Given the description of an element on the screen output the (x, y) to click on. 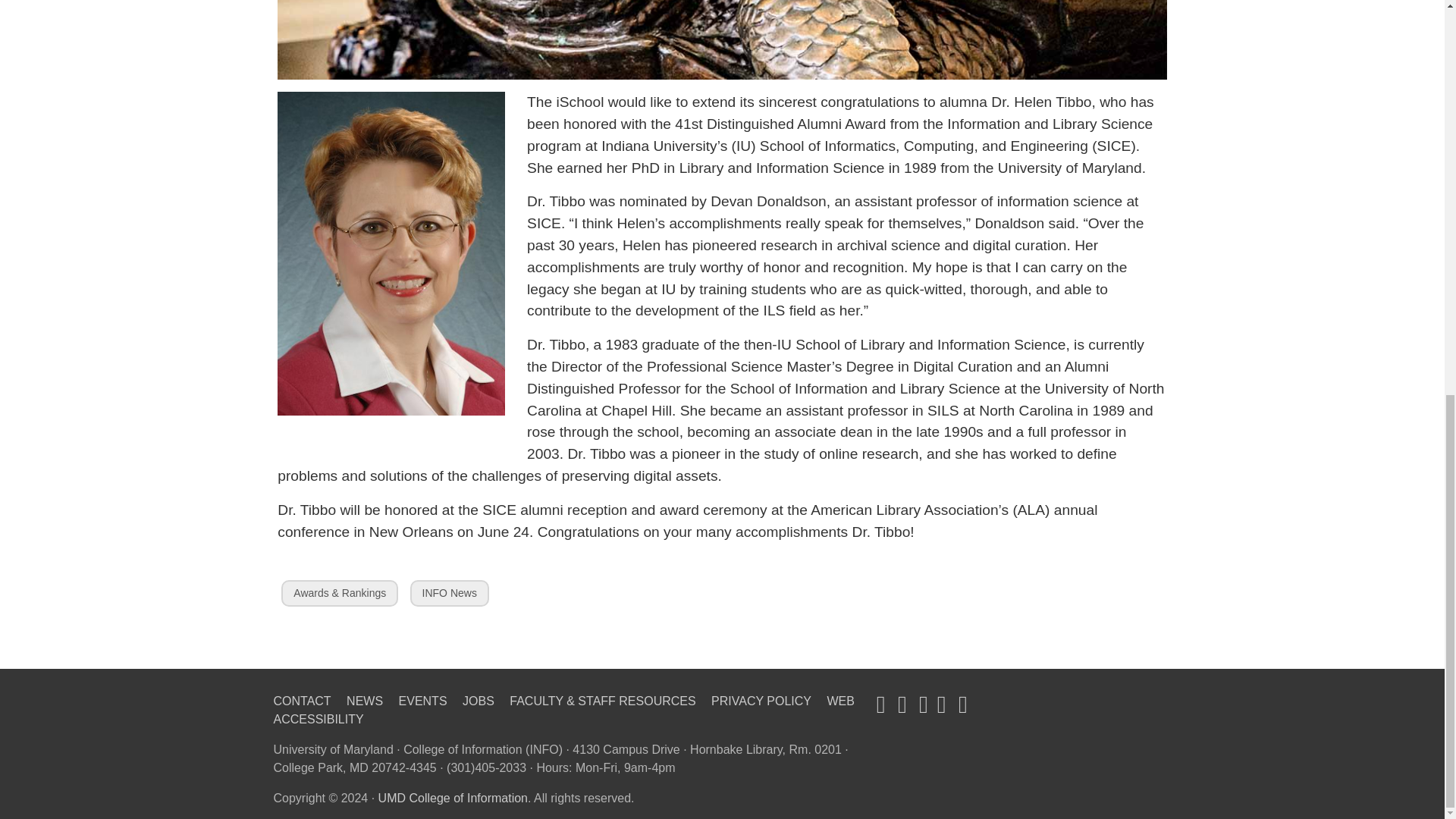
Jobs at UMD iSchool (364, 700)
UMD iSchool Faculty and Staff Resources (602, 700)
Jobs at UMD iSchool (479, 700)
UMD College of Information (452, 797)
Contact UMD iSchool (301, 700)
Jobs at UMD iSchool (422, 700)
UMD Privacy Policy (760, 700)
UMD Web Acessibility (563, 709)
